Given the description of an element on the screen output the (x, y) to click on. 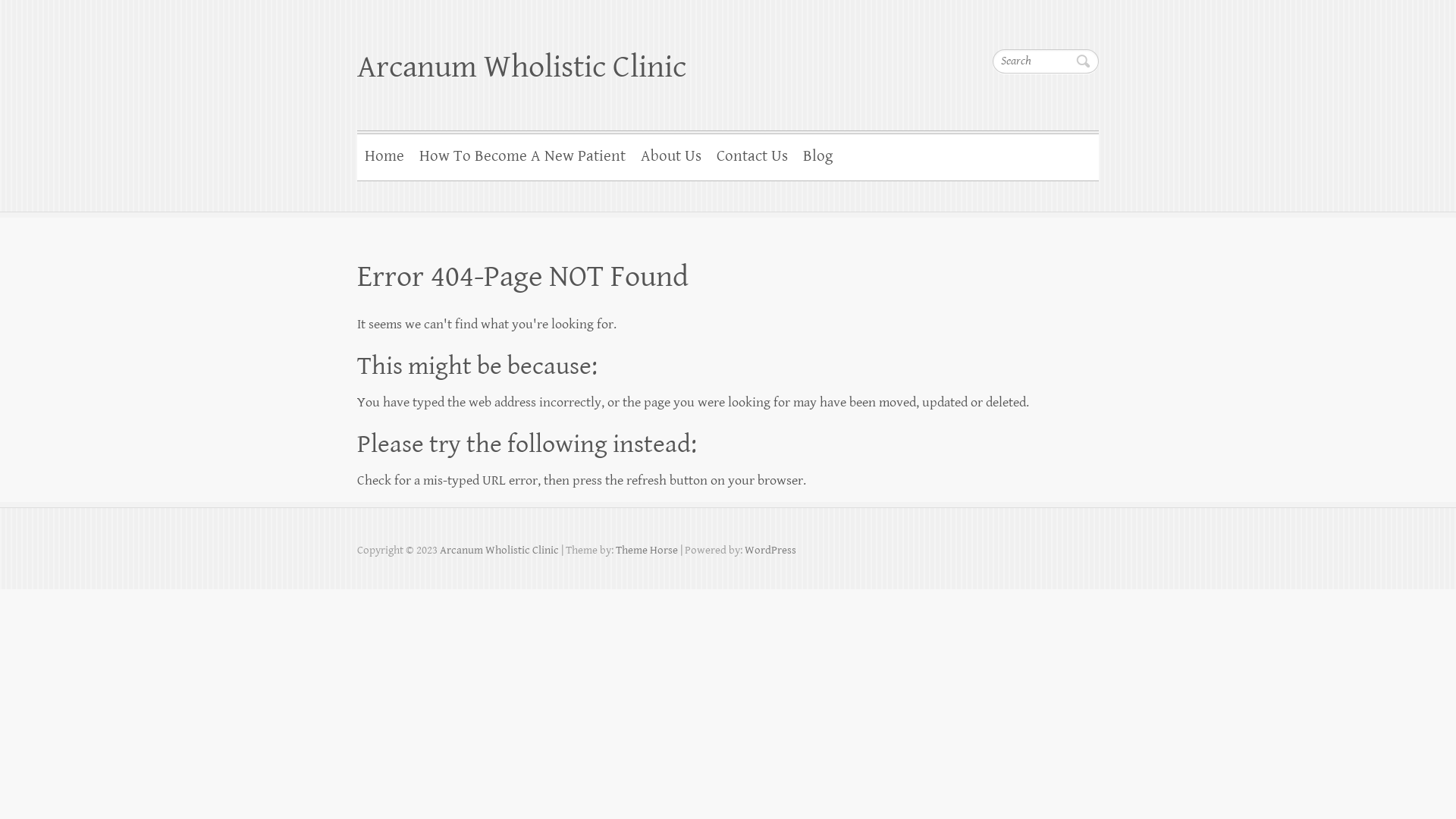
Arcanum Wholistic Clinic Element type: text (498, 549)
WordPress Element type: text (770, 549)
Theme Horse Element type: text (646, 549)
How To Become A New Patient Element type: text (522, 155)
Contact Us Element type: text (752, 155)
Arcanum Wholistic Clinic Element type: text (521, 67)
Home Element type: text (384, 155)
Blog Element type: text (817, 155)
About Us Element type: text (671, 155)
